Given the description of an element on the screen output the (x, y) to click on. 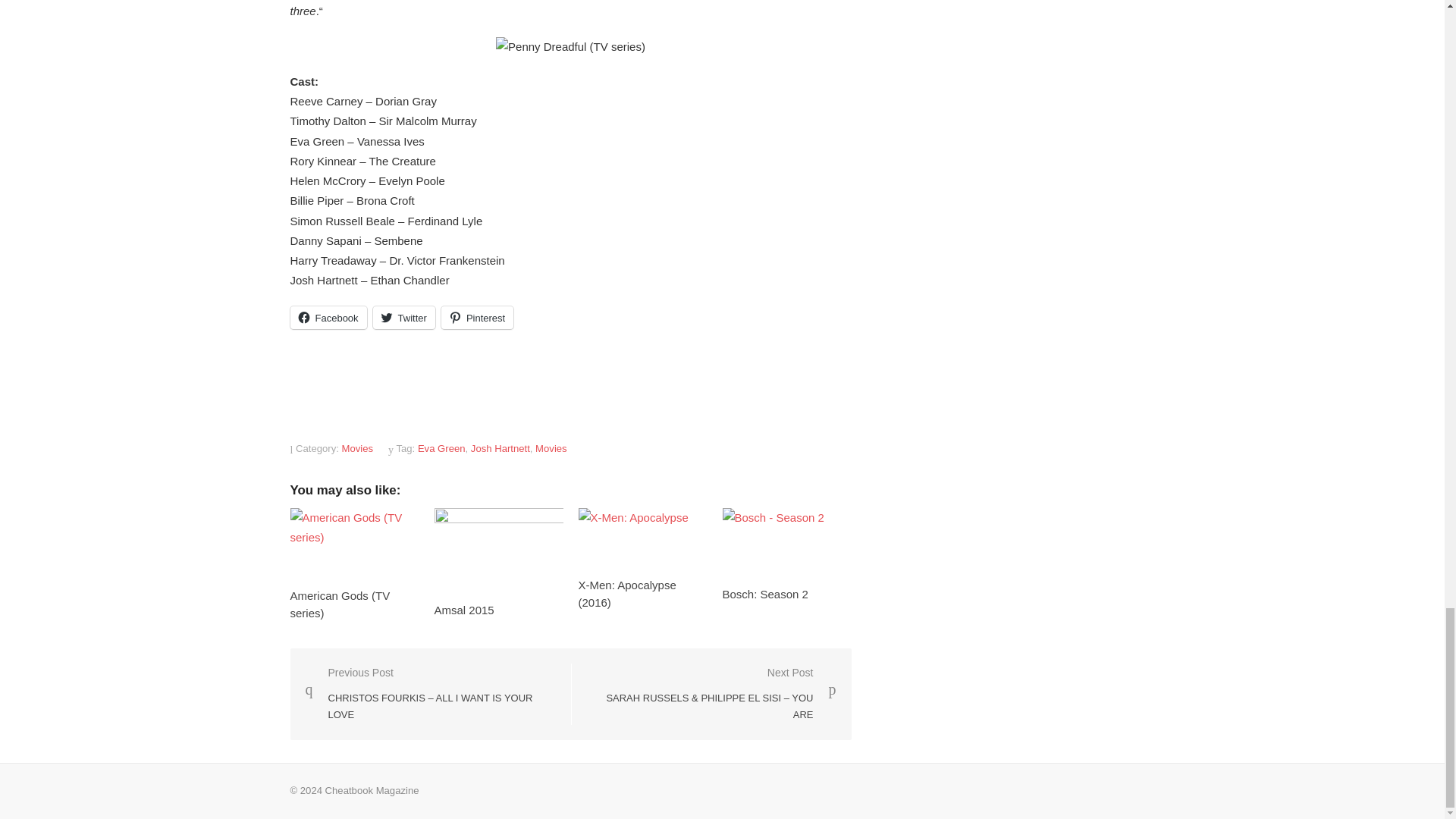
Eva Green (441, 448)
Click to share on Pinterest (477, 317)
Bosch: Season 2 (765, 594)
Movies (551, 448)
Movies (358, 448)
Pinterest (477, 317)
Twitter (403, 317)
Josh Hartnett (499, 448)
Amsal 2015 (463, 609)
Click to share on Twitter (403, 317)
